Given the description of an element on the screen output the (x, y) to click on. 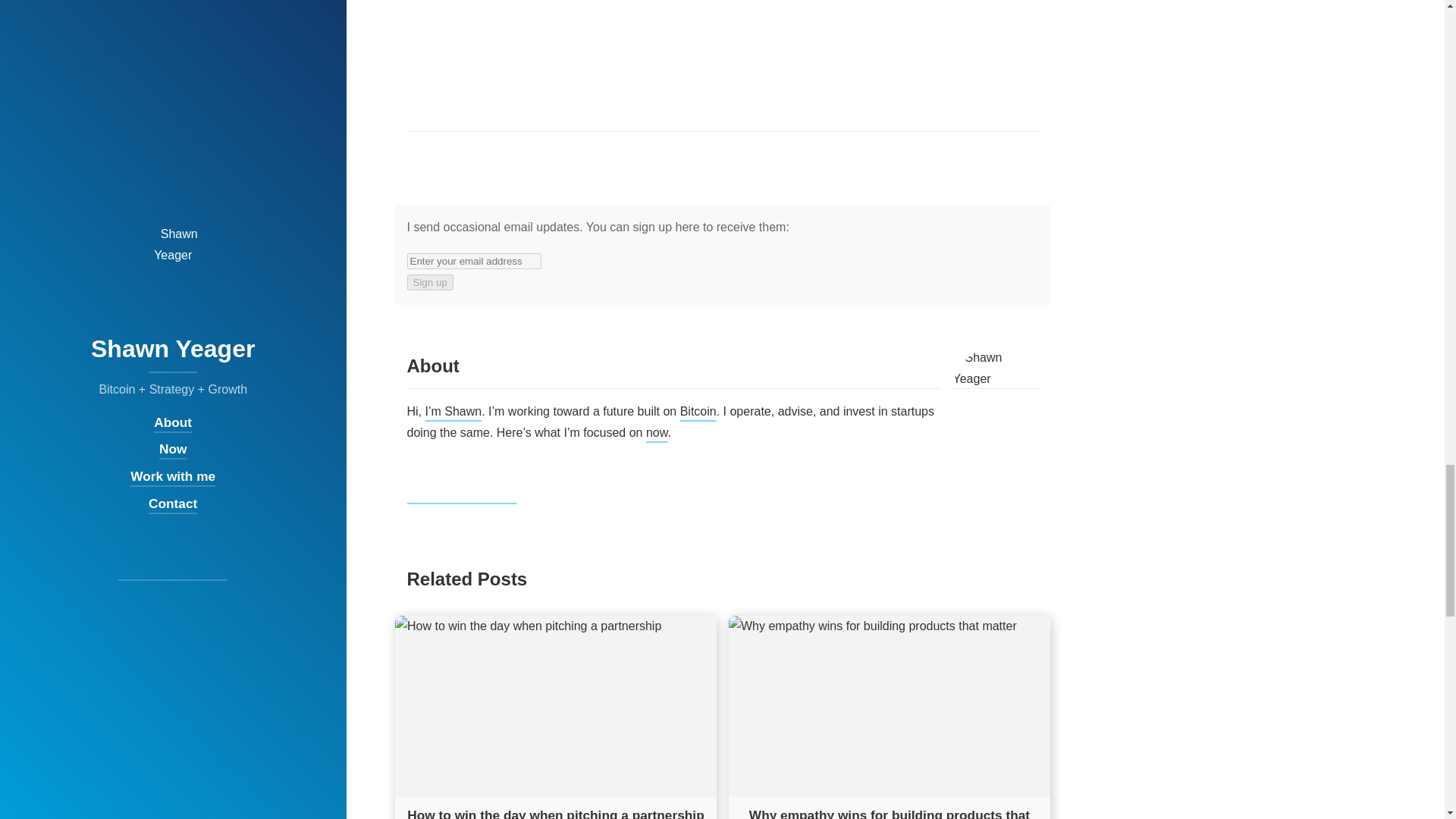
Why empathy wins for building products that matter (888, 813)
Sign up (429, 282)
Sign up (429, 282)
now (656, 431)
How to win the day when pitching a partnership (555, 813)
Bitcoin (697, 410)
